Given the description of an element on the screen output the (x, y) to click on. 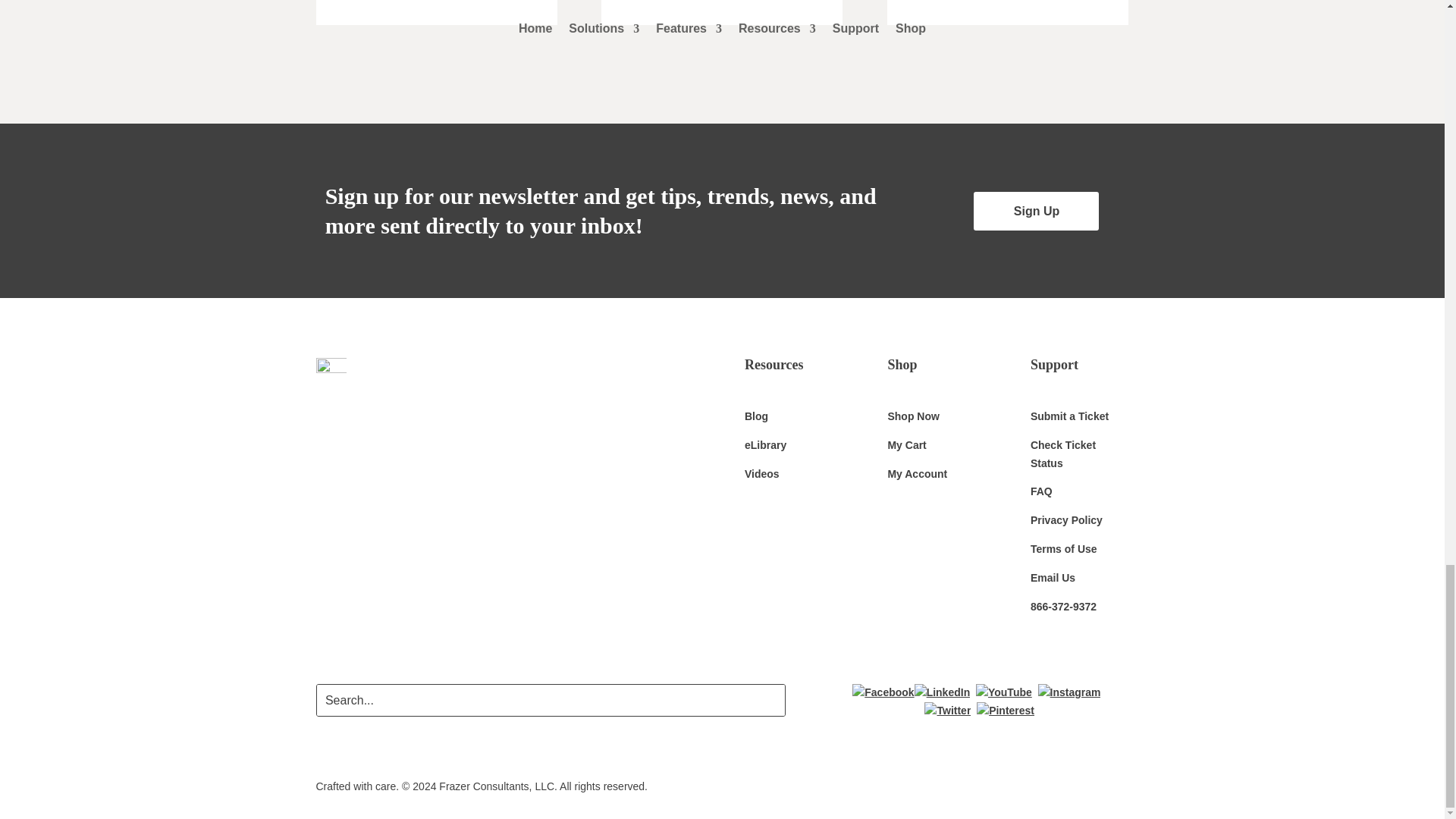
LinkedIn Page (942, 692)
Twitter Page (947, 710)
Facebook Page (882, 692)
Pinterest Page (1004, 710)
Gray-F-404040 (330, 373)
YouTube Channel (1003, 692)
Instagram Page (1069, 692)
